Given the description of an element on the screen output the (x, y) to click on. 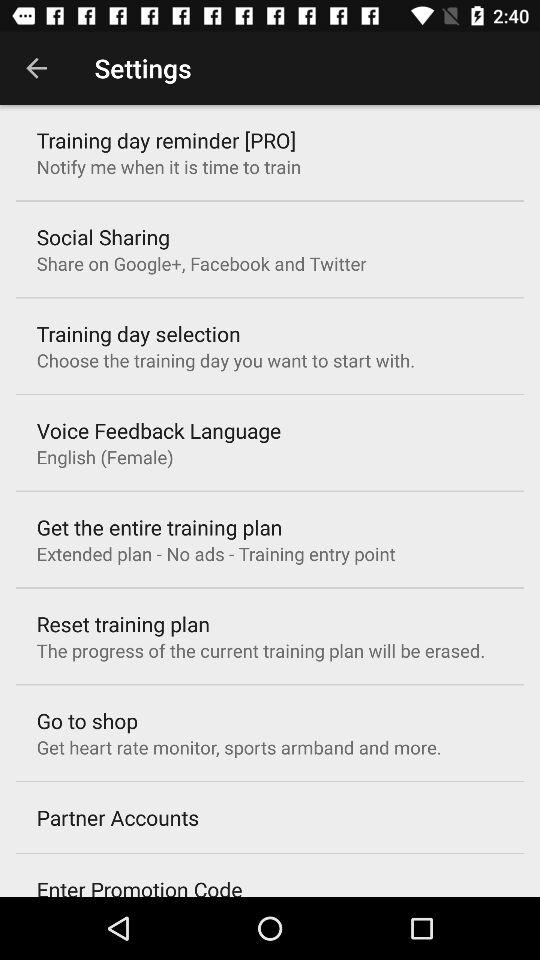
press icon below the training day reminder icon (168, 166)
